Given the description of an element on the screen output the (x, y) to click on. 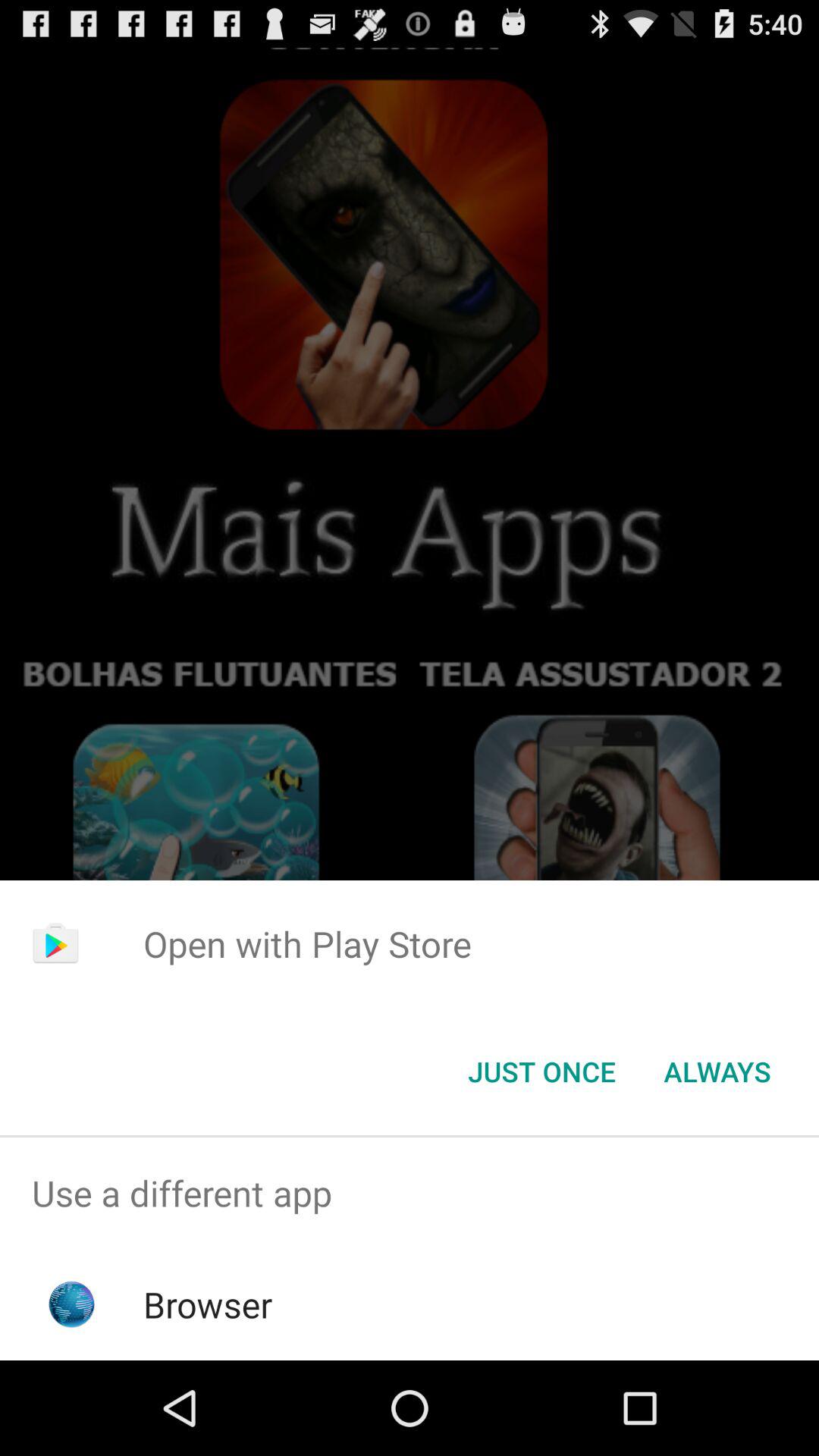
select the app below open with play app (717, 1071)
